Given the description of an element on the screen output the (x, y) to click on. 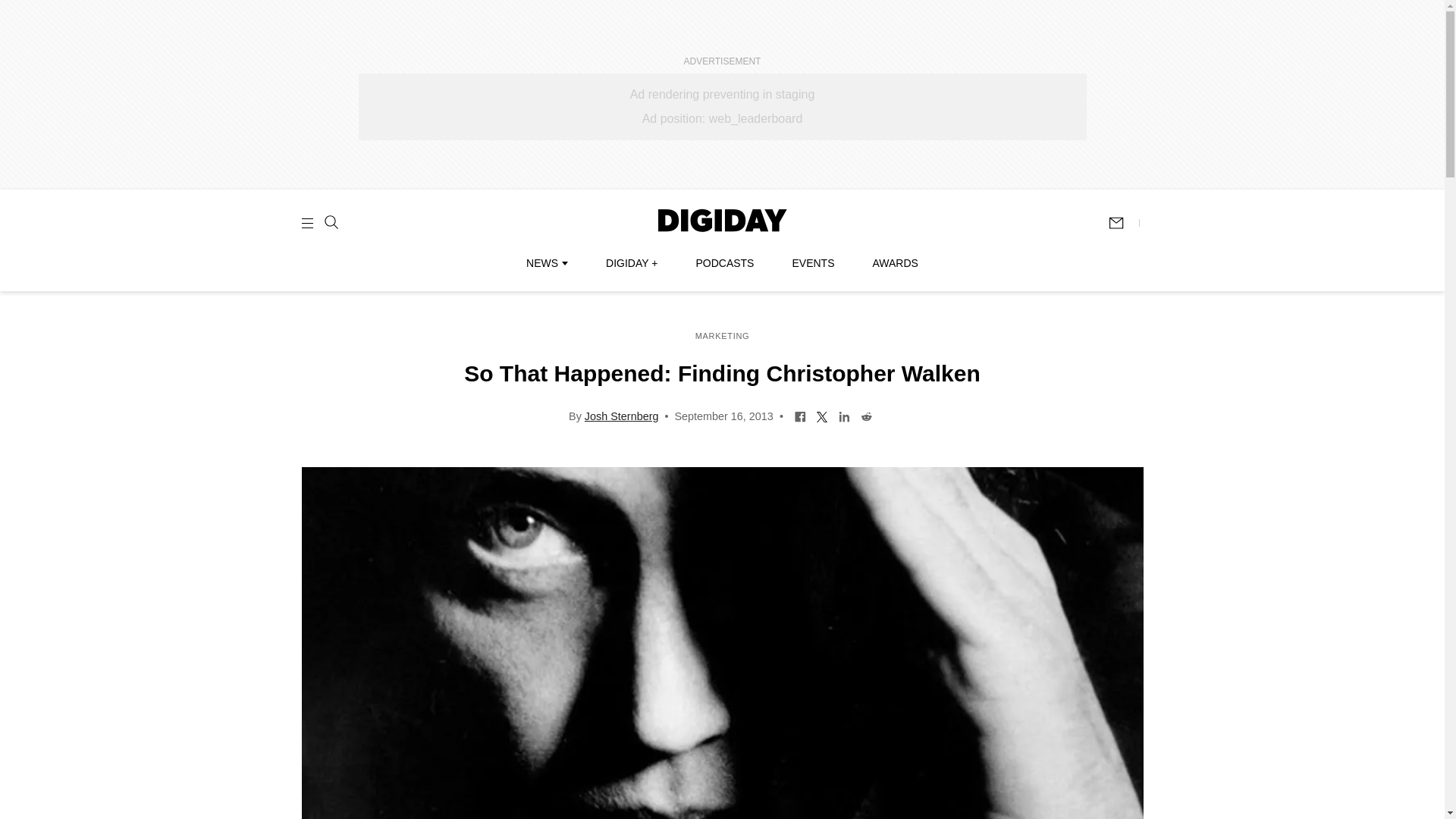
NEWS (546, 262)
EVENTS (813, 262)
Subscribe (1123, 223)
Share on Facebook (799, 415)
Share on Reddit (866, 415)
AWARDS (894, 262)
PODCASTS (725, 262)
Share on Twitter (821, 415)
Share on LinkedIn (844, 415)
